Given the description of an element on the screen output the (x, y) to click on. 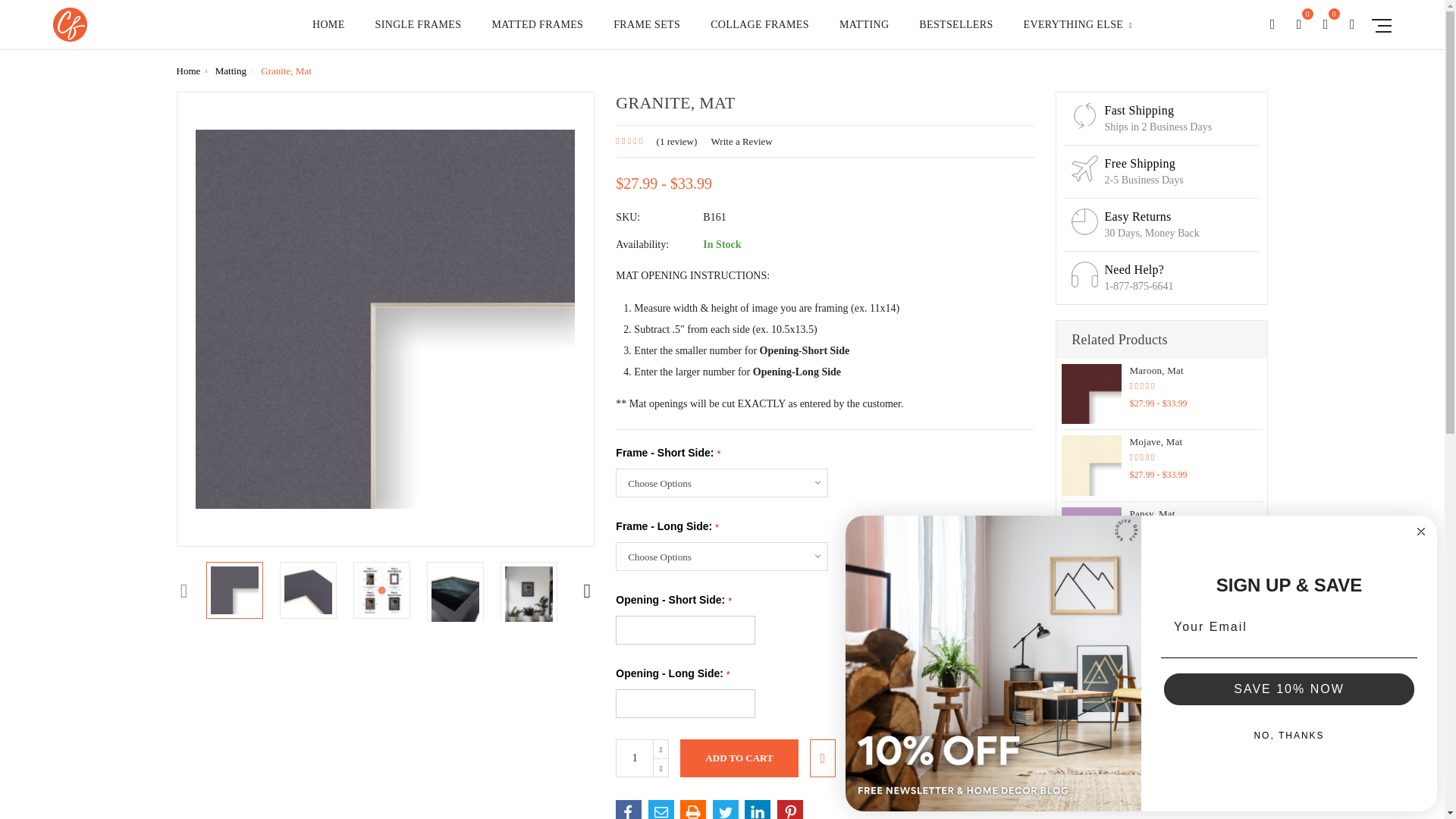
FRAME SETS (645, 34)
EVERYTHING ELSE (1077, 34)
Firelight, Mat (1091, 608)
Graphite, Mat (1091, 680)
Granite, Mat (235, 590)
MATTING (864, 34)
Craig Frames (69, 24)
Pansy, Mat (1091, 536)
Mojave, Mat (1091, 464)
COLLAGE FRAMES (759, 34)
SINGLE FRAMES (418, 34)
Granite, Mat (307, 590)
Add to Cart (738, 758)
Maroon, Mat (1091, 393)
